Given the description of an element on the screen output the (x, y) to click on. 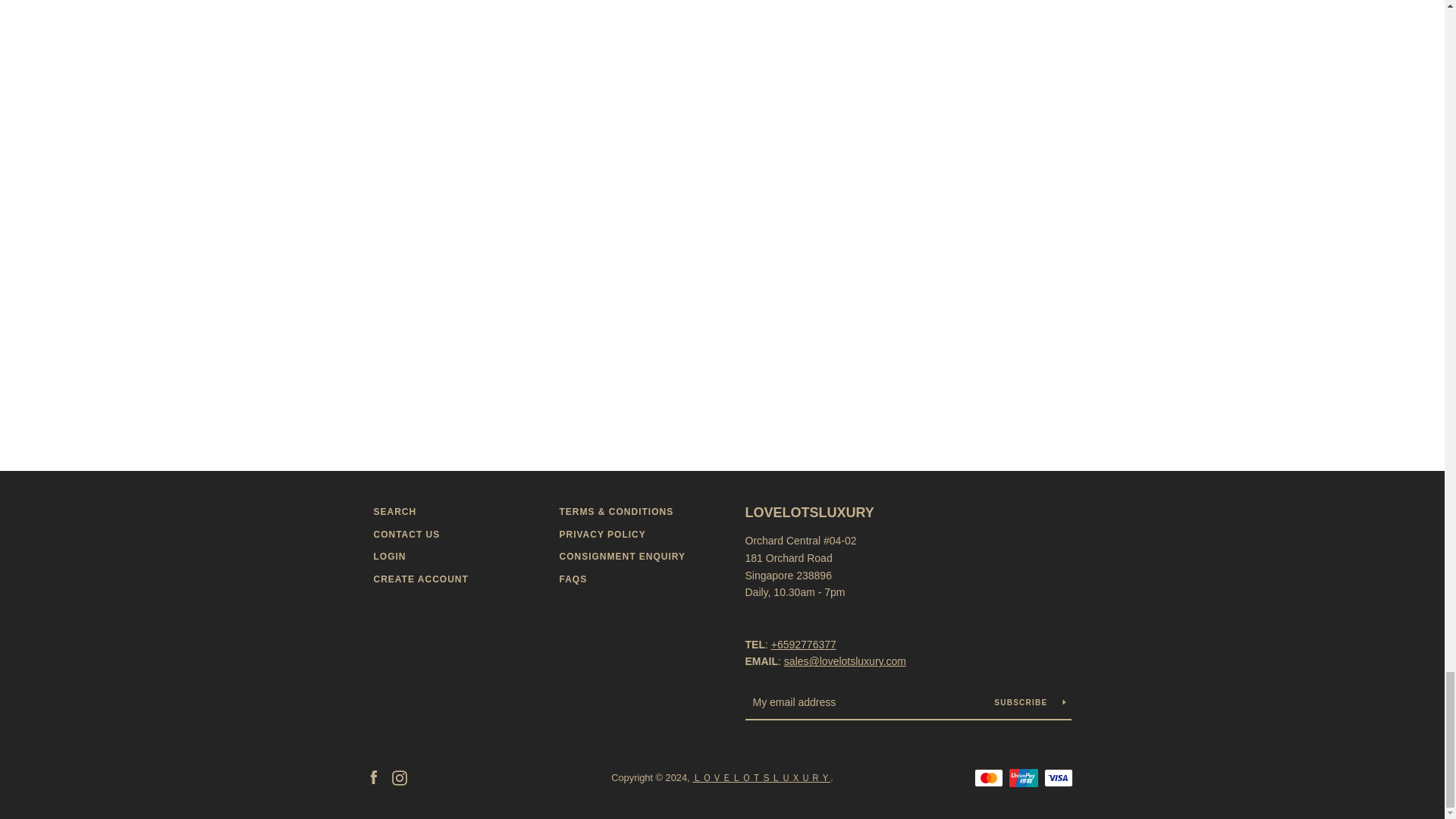
Mastercard (988, 778)
Visa (1057, 778)
Union Pay (1022, 778)
